Given the description of an element on the screen output the (x, y) to click on. 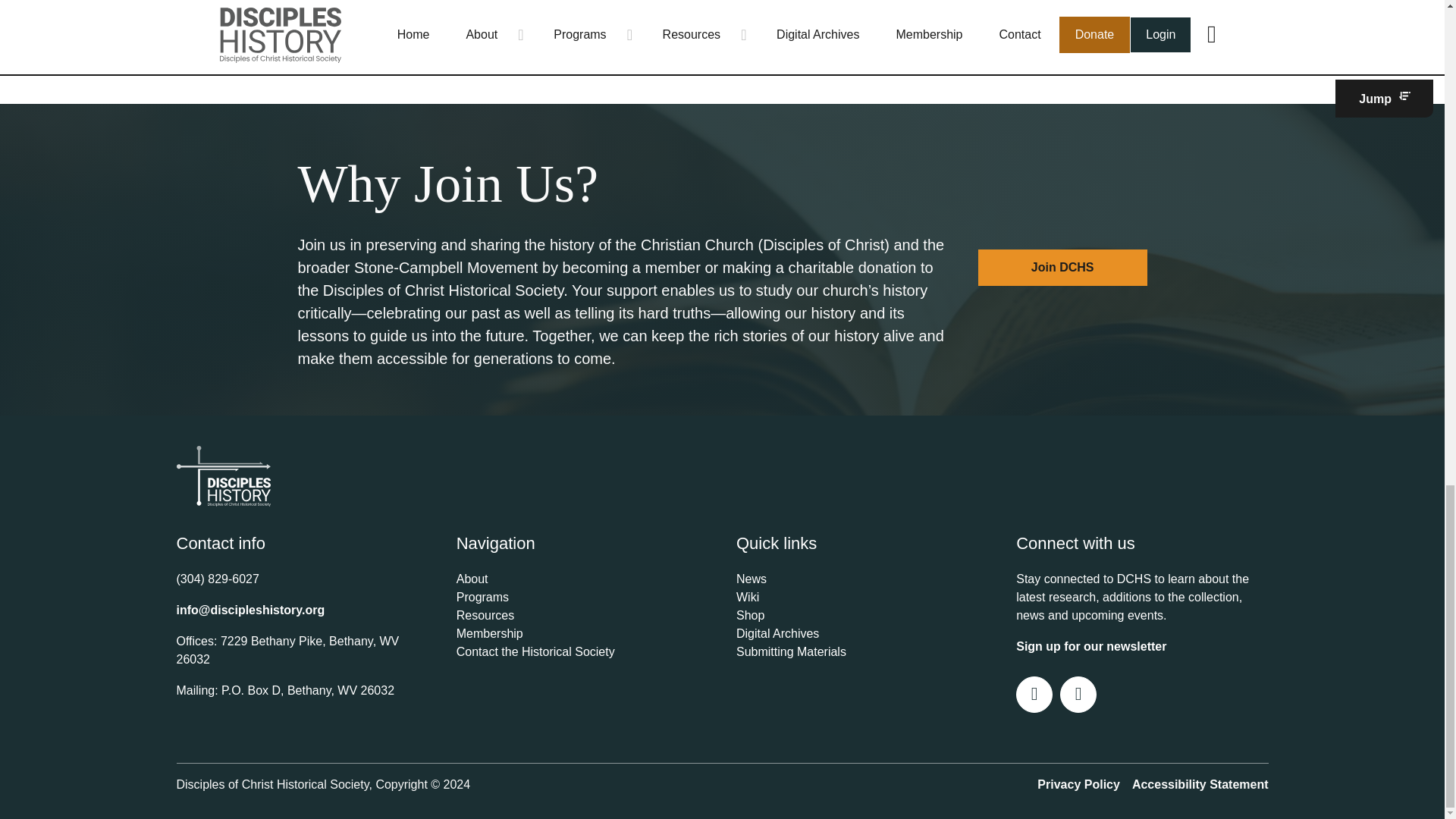
Facebook (1034, 693)
Instagram (1078, 693)
